Given the description of an element on the screen output the (x, y) to click on. 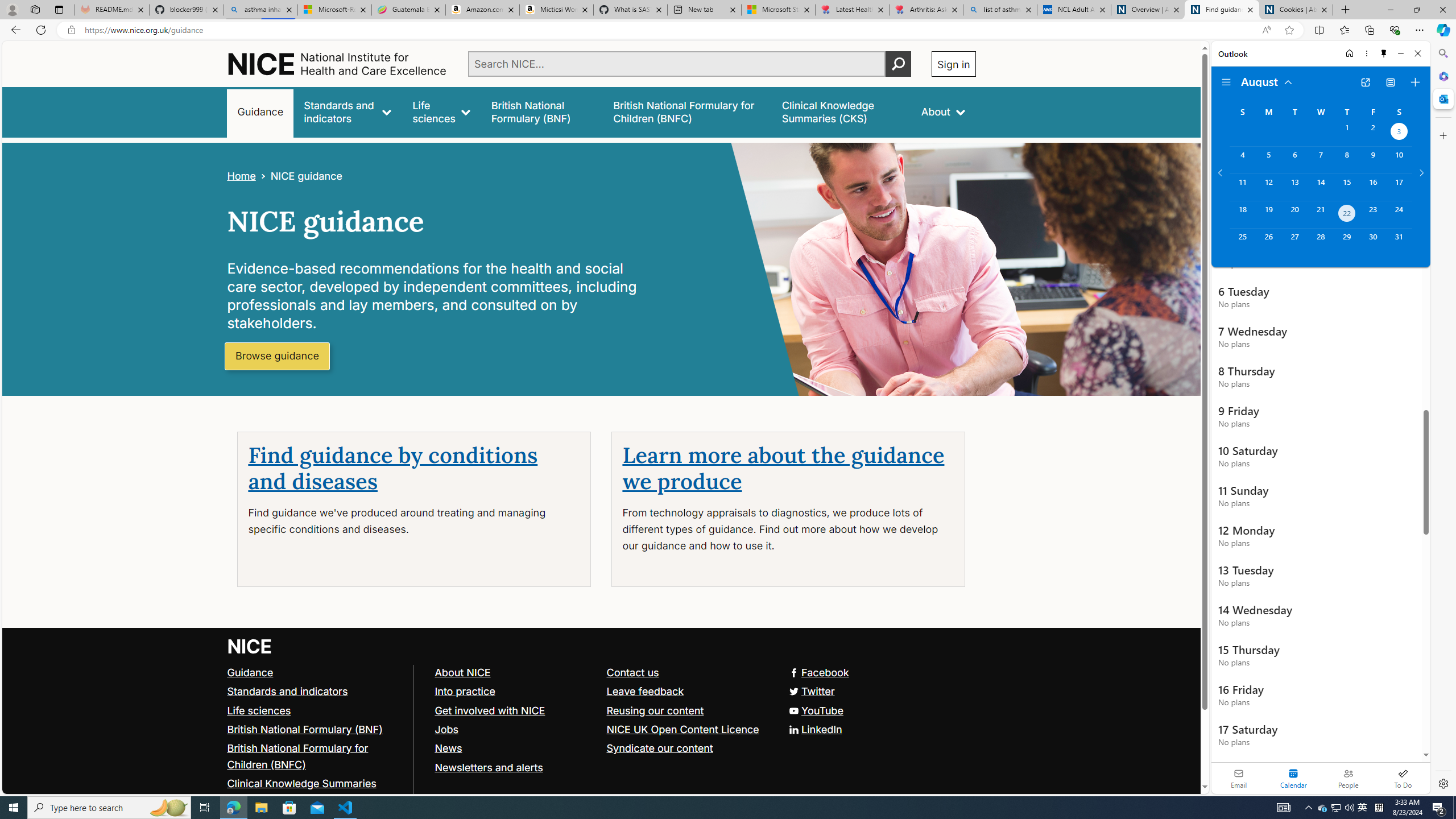
Sunday, August 25, 2024.  (1242, 241)
Monday, August 12, 2024.  (1268, 186)
Contact us (632, 671)
Browse guidance (277, 356)
Address and search bar (669, 29)
NCL Adult Asthma Inhaler Choice Guideline (1073, 9)
Guidance (250, 671)
Wednesday, August 28, 2024.  (1320, 241)
LinkedIn (601, 729)
